Given the description of an element on the screen output the (x, y) to click on. 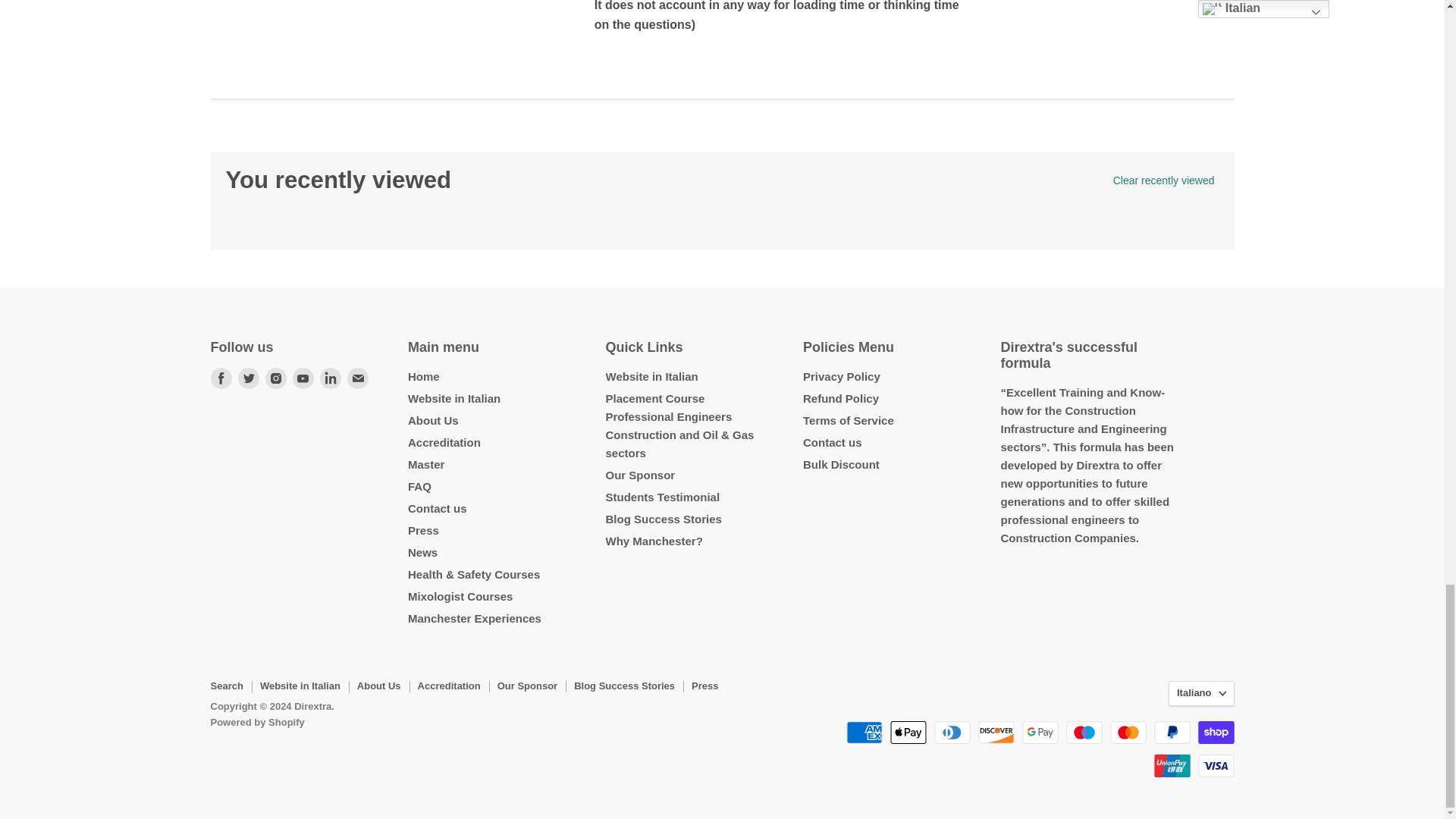
E-mail (357, 378)
Twitter (248, 378)
LinkedIn (330, 378)
Instagram (275, 378)
Facebook (221, 378)
Youtube (303, 378)
